Given the description of an element on the screen output the (x, y) to click on. 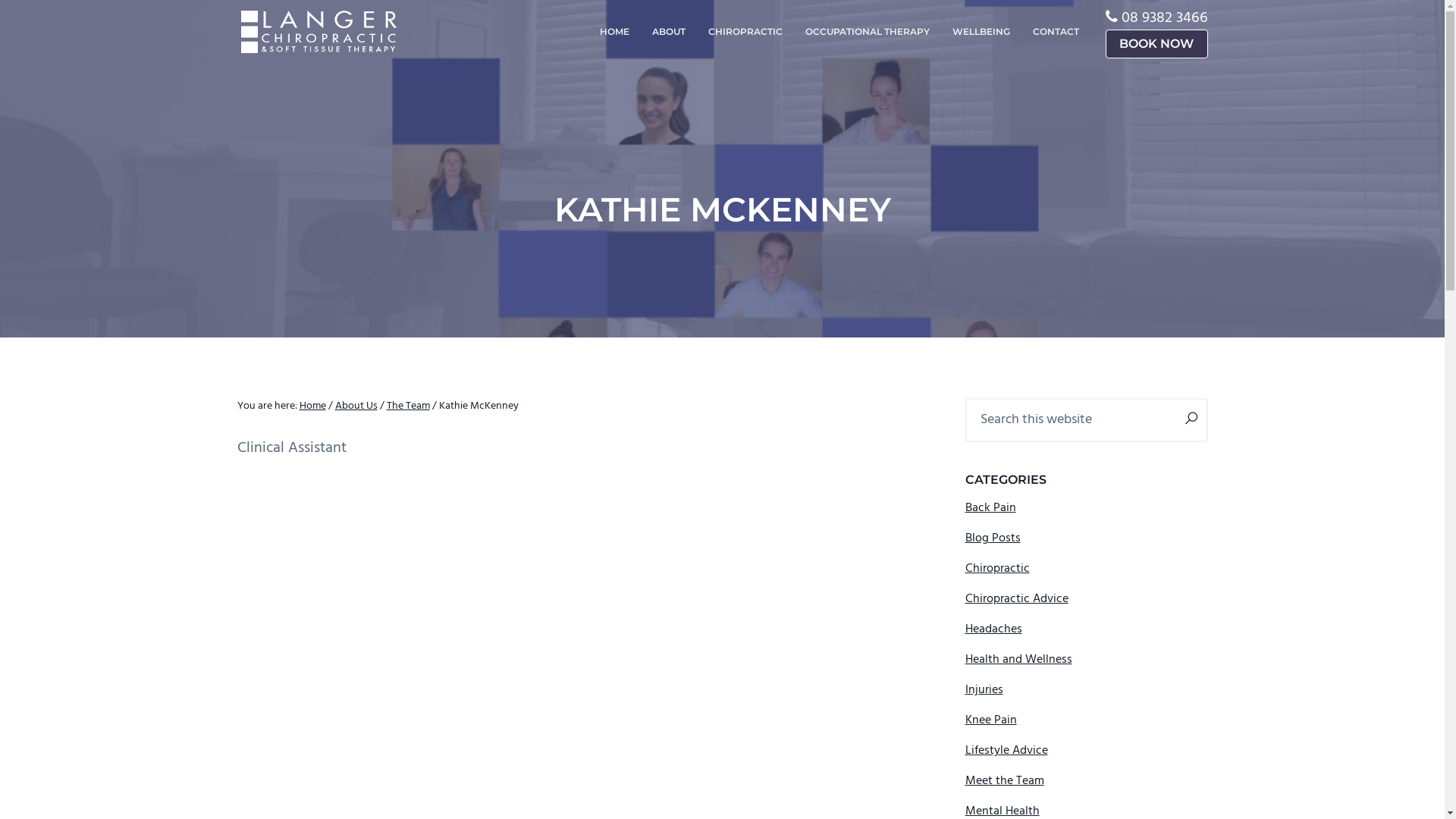
Health and Wellness Element type: text (1017, 659)
Meet the Team Element type: text (1003, 780)
Search Element type: text (45, 18)
Chiropractic Element type: text (996, 568)
Injuries Element type: text (983, 689)
CONTACT Element type: text (1054, 31)
Knee Pain Element type: text (990, 720)
CHIROPRACTIC Element type: text (744, 31)
BOOK NOW Element type: text (1156, 43)
Home Element type: text (311, 405)
ABOUT Element type: text (668, 31)
Skip to primary navigation Element type: text (0, 0)
OCCUPATIONAL THERAPY Element type: text (866, 31)
Blog Posts Element type: text (991, 538)
LANGER CHIROPRACTIC AND SOFT TISSUE THERAPY Element type: text (411, 60)
Lifestyle Advice Element type: text (1005, 750)
Chiropractic Advice Element type: text (1015, 598)
About Us Element type: text (356, 405)
WELLBEING Element type: text (980, 31)
HOME Element type: text (614, 31)
The Team Element type: text (407, 405)
Back Pain Element type: text (989, 507)
Headaches Element type: text (992, 629)
08 9382 3466 Element type: text (1163, 18)
